Given the description of an element on the screen output the (x, y) to click on. 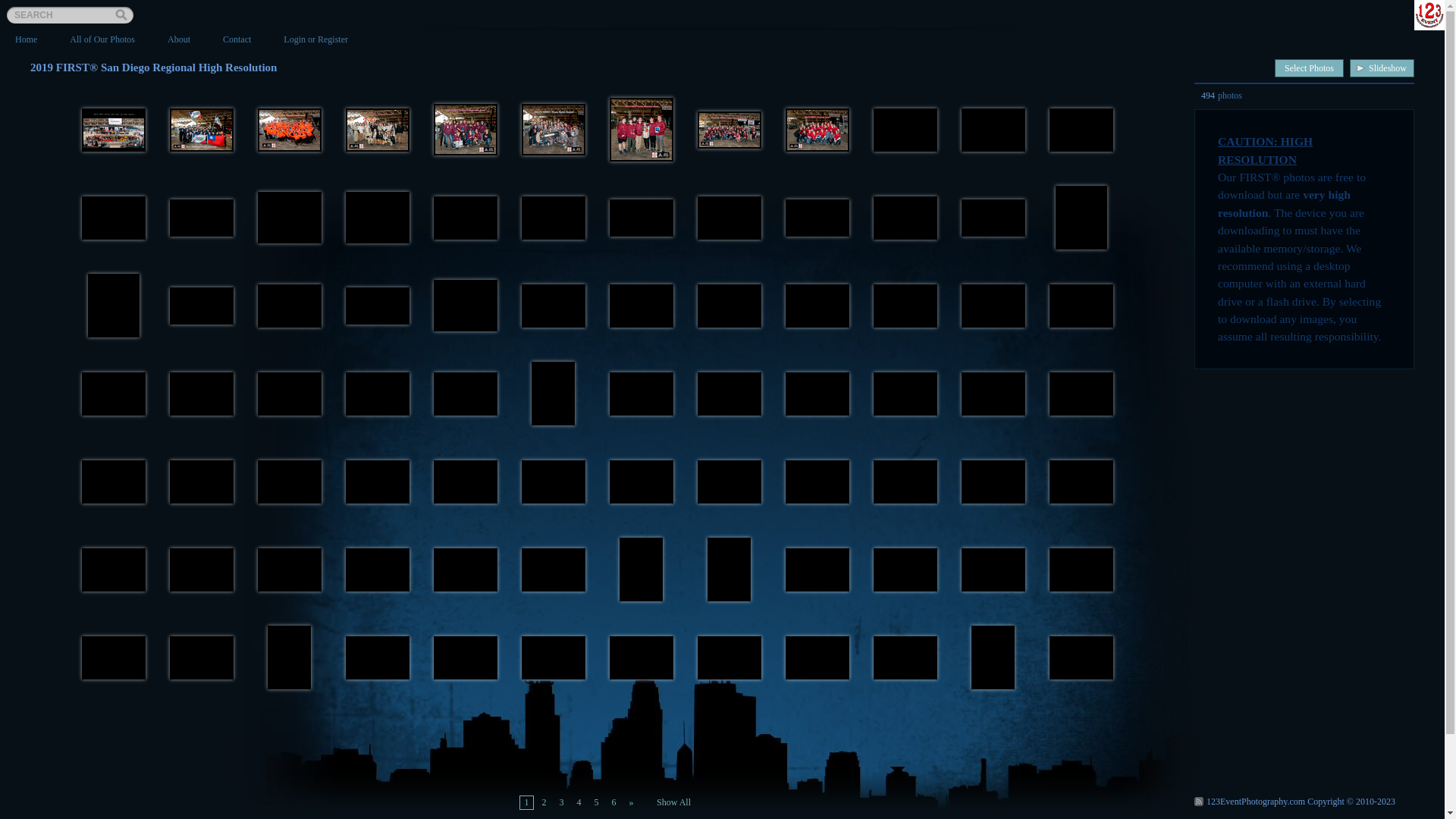
About Element type: text (178, 39)
1 Element type: text (526, 802)
All of Our Photos Element type: text (102, 39)
5 Element type: text (596, 802)
Show All Element type: text (673, 802)
2 Element type: text (543, 802)
Contact Element type: text (236, 39)
Home Element type: text (26, 39)
3 Element type: text (561, 802)
4 Element type: text (578, 802)
6 Element type: text (613, 802)
Login or Register Element type: text (315, 39)
